Given the description of an element on the screen output the (x, y) to click on. 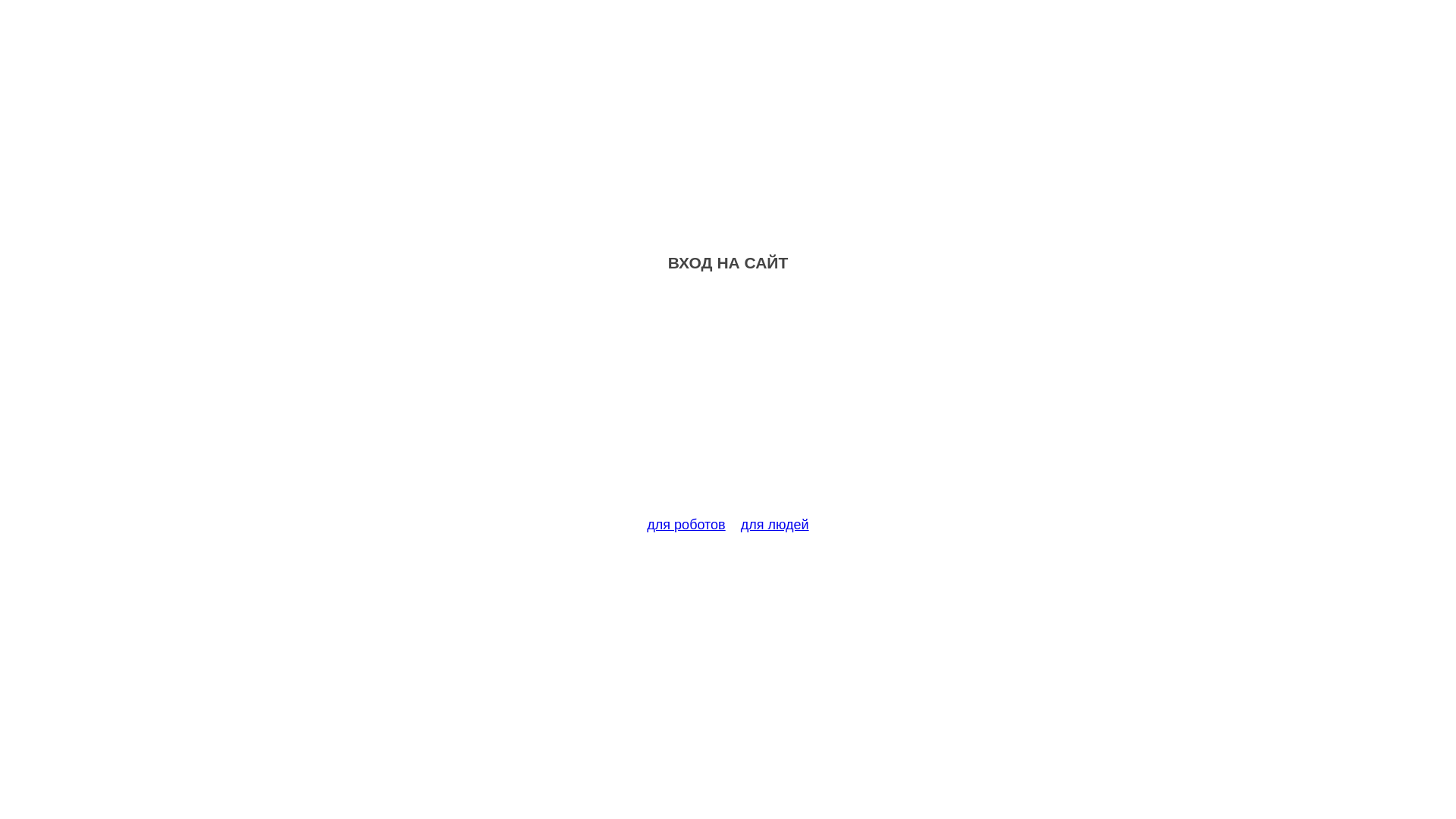
Advertisement Element type: hover (727, 403)
